Given the description of an element on the screen output the (x, y) to click on. 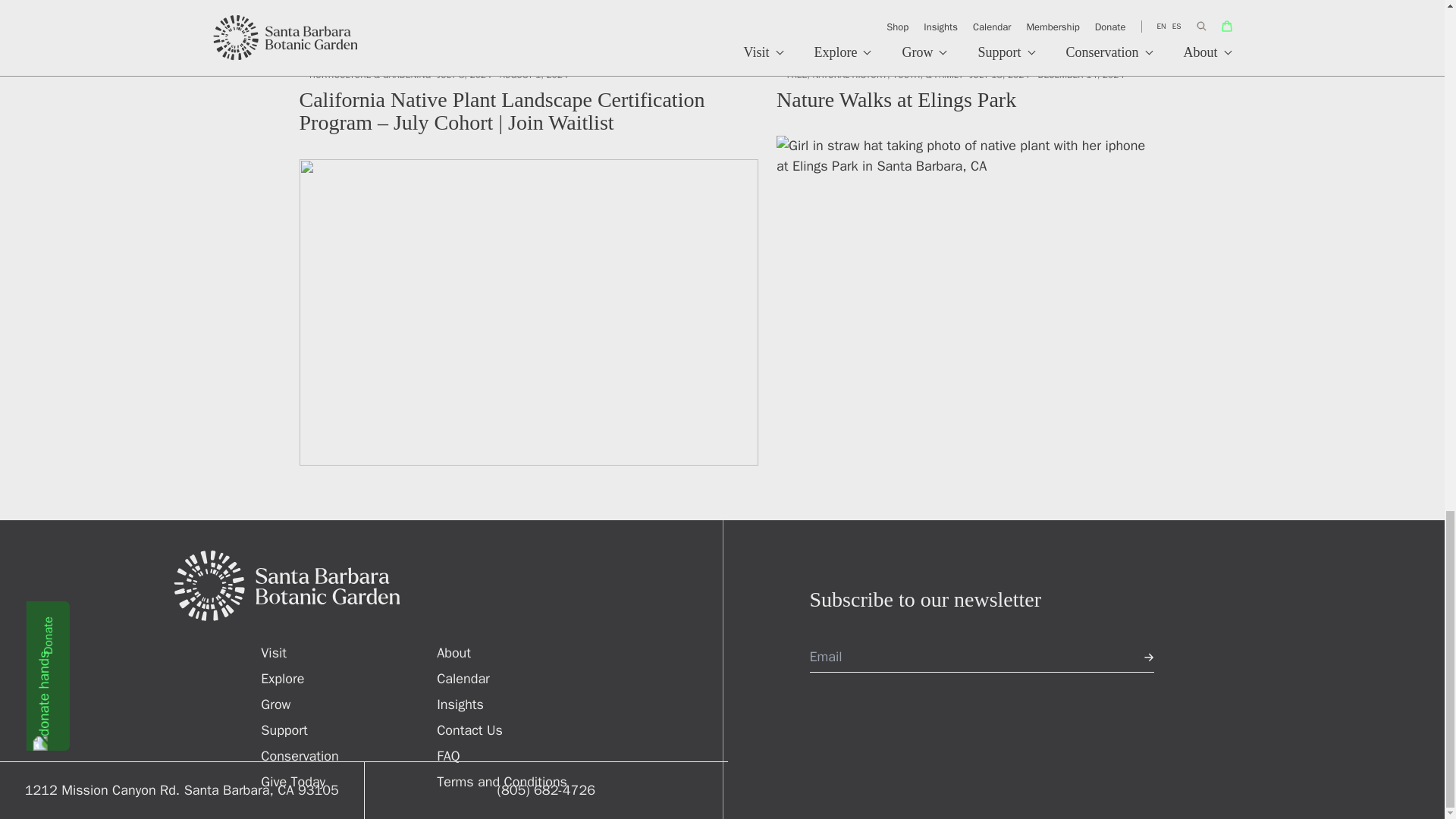
Nature Walks at Elings Park (960, 258)
Nature Walks at Elings Park (960, 226)
Nature Walks at Elings Park (896, 99)
Santa Barbara Botanic Garden (447, 585)
